Given the description of an element on the screen output the (x, y) to click on. 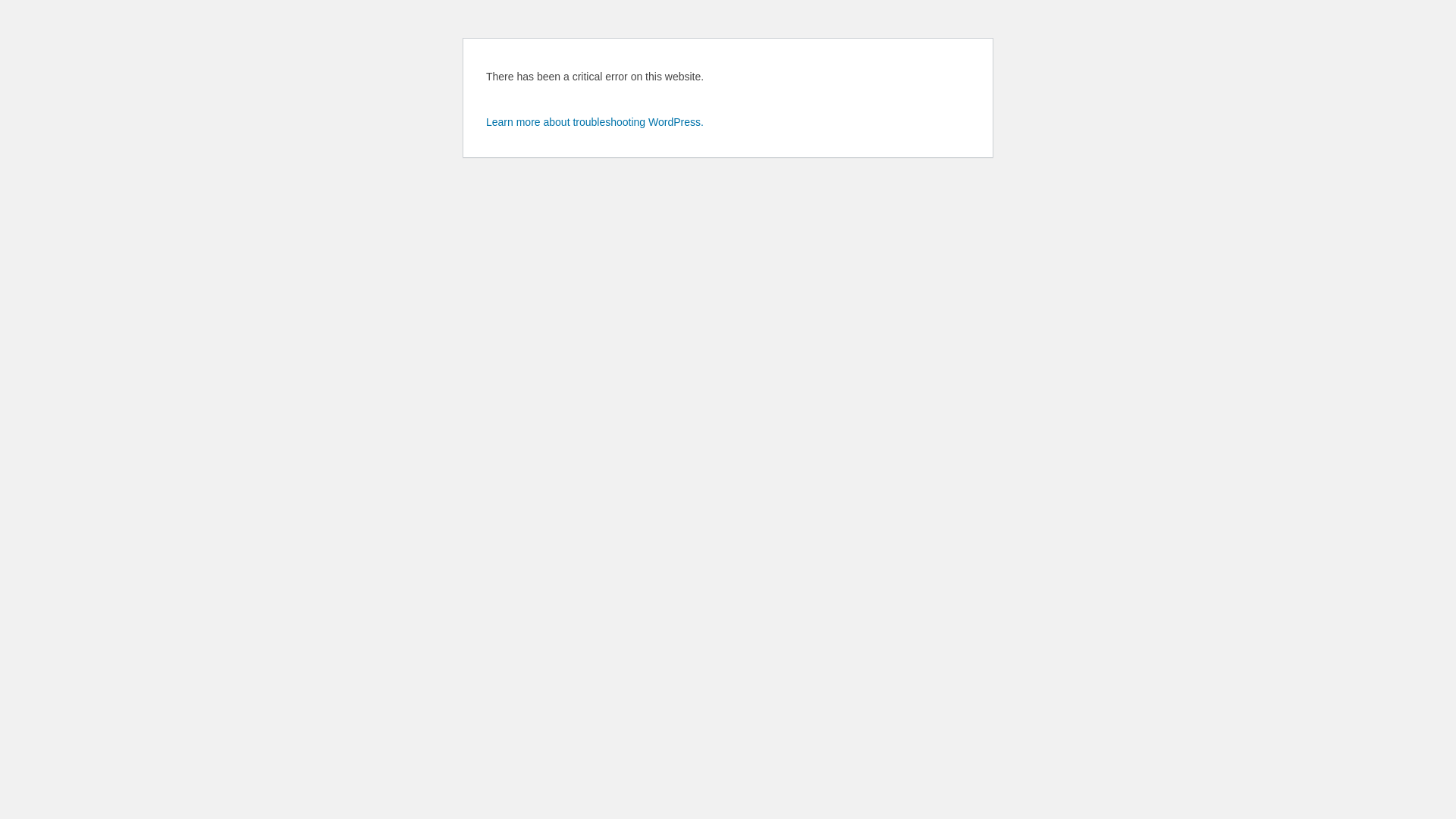
Learn more about troubleshooting WordPress. Element type: text (594, 122)
